Given the description of an element on the screen output the (x, y) to click on. 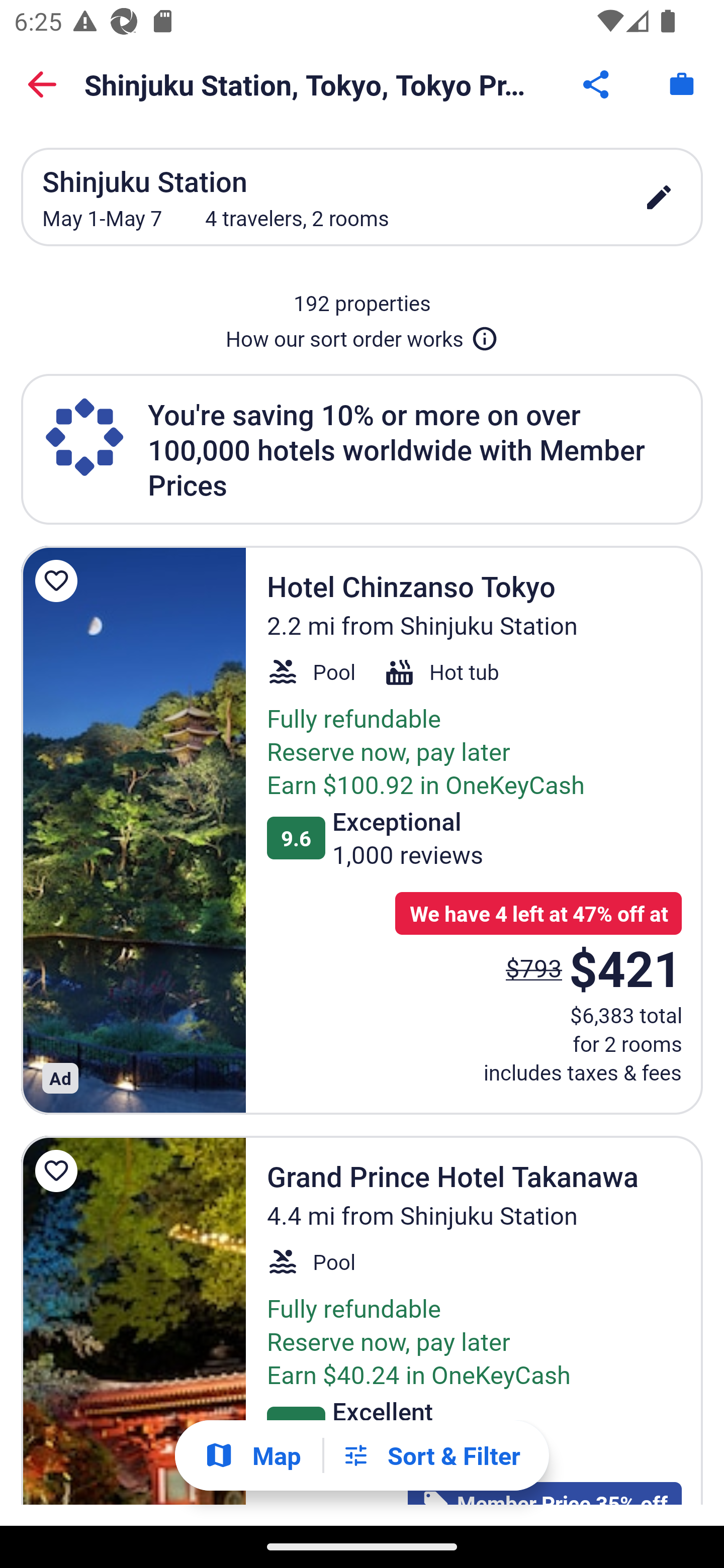
Back (42, 84)
Share Button (597, 84)
Trips. Button (681, 84)
How our sort order works (361, 334)
Save Hotel Chinzanso Tokyo to a trip (59, 580)
Hotel Chinzanso Tokyo (133, 829)
$793 The price was $793 (533, 967)
Save Grand Prince Hotel Takanawa to a trip (59, 1170)
Grand Prince Hotel Takanawa (133, 1320)
Filters Sort & Filter Filters Button (430, 1455)
Show map Map Show map Button (252, 1455)
